Given the description of an element on the screen output the (x, y) to click on. 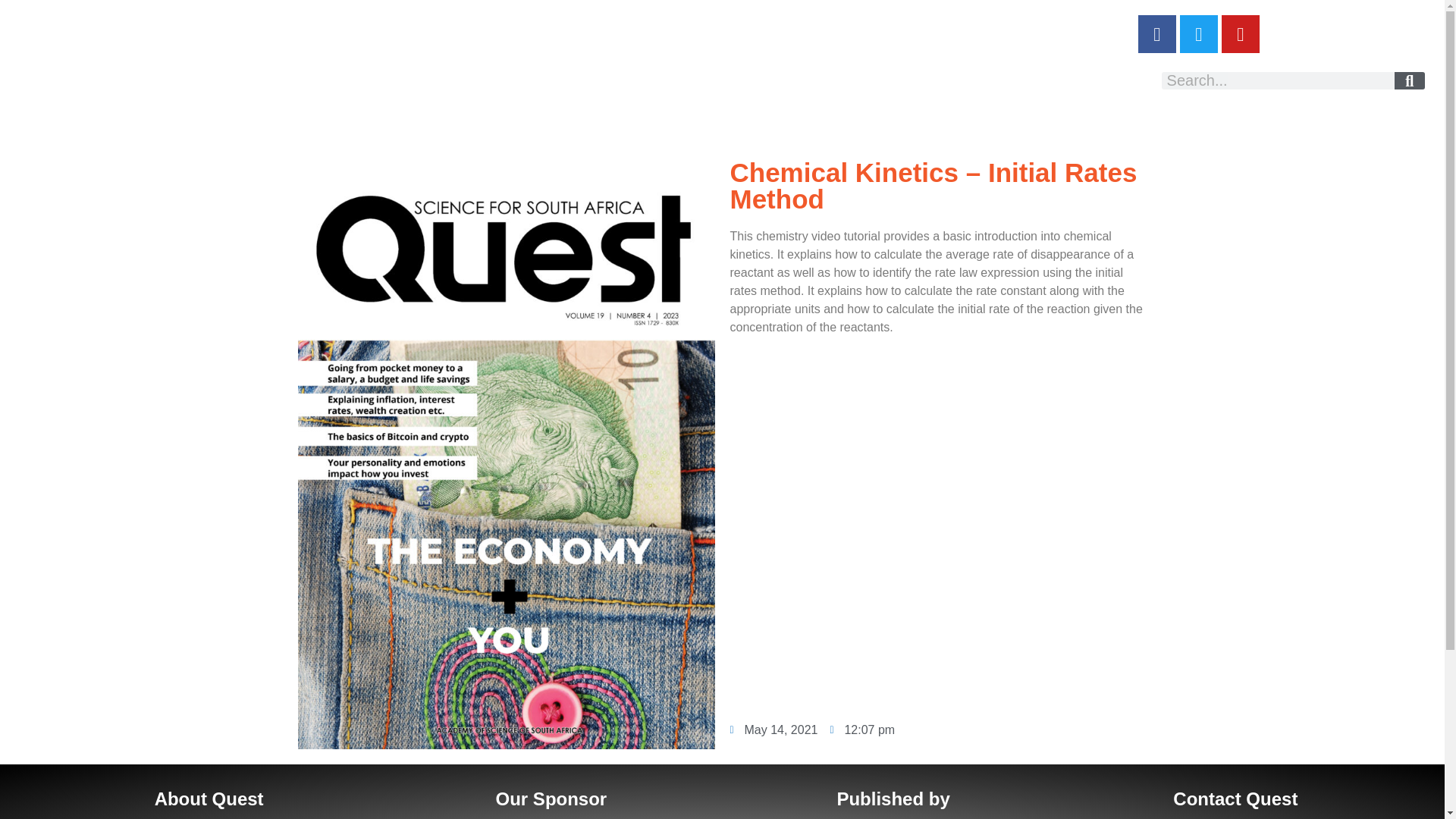
Girls in ICT Day 2022 (735, 82)
May 14, 2021 (772, 730)
Events 2022 (1004, 82)
Events 2021 (113, 113)
Events 2019 (235, 113)
Contact Us (448, 82)
FAQs (349, 82)
About (174, 82)
Home (87, 82)
